Given the description of an element on the screen output the (x, y) to click on. 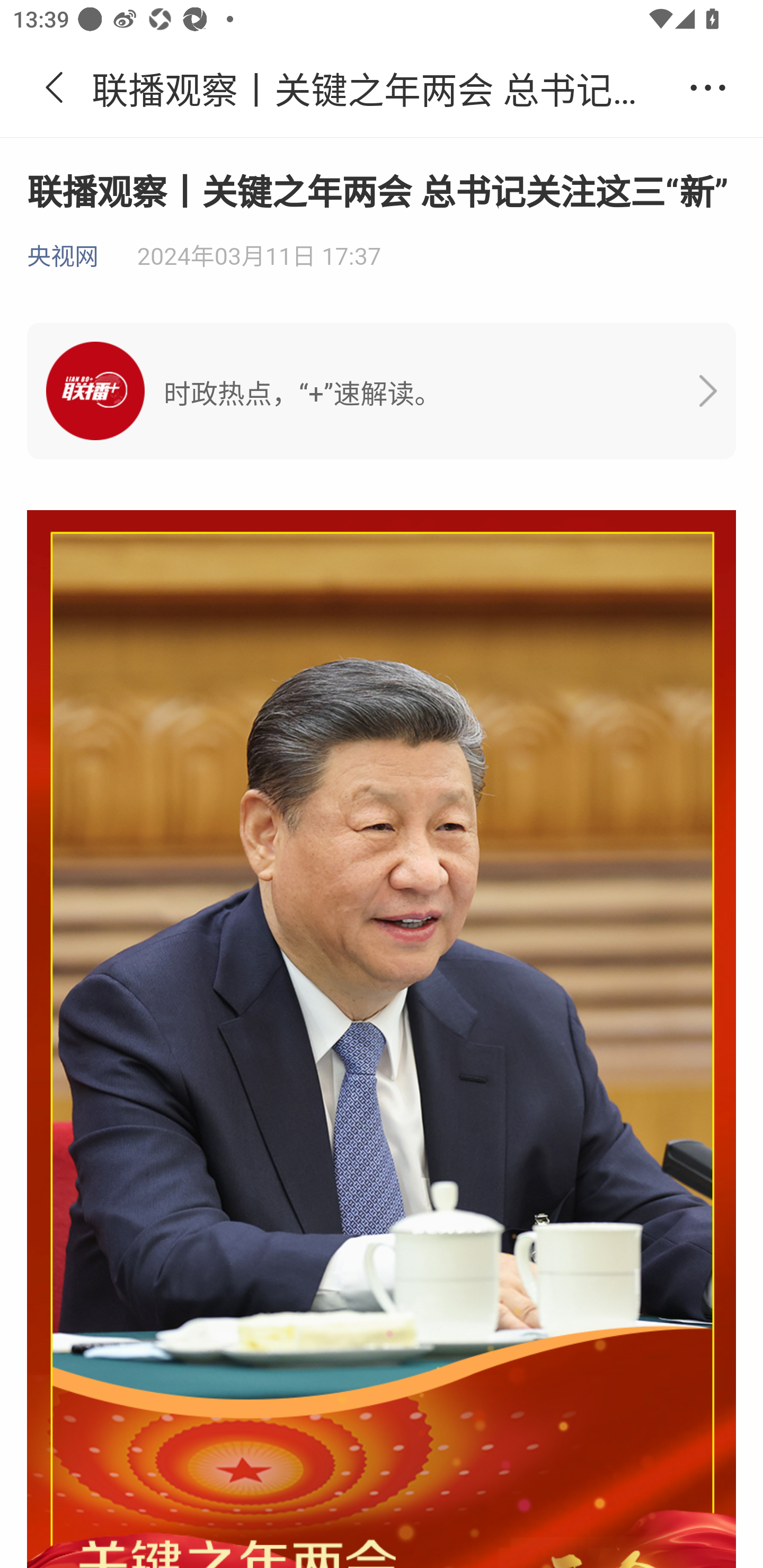
联播观察丨关键之年两会 总书记关注这三“新” (381, 87)
 返回 (54, 87)
 更多 (707, 87)
央视网 (62, 257)
时政热点，“+”速解读。 1617256979184_623 时政热点，“+”速解读。 (381, 390)
